Given the description of an element on the screen output the (x, y) to click on. 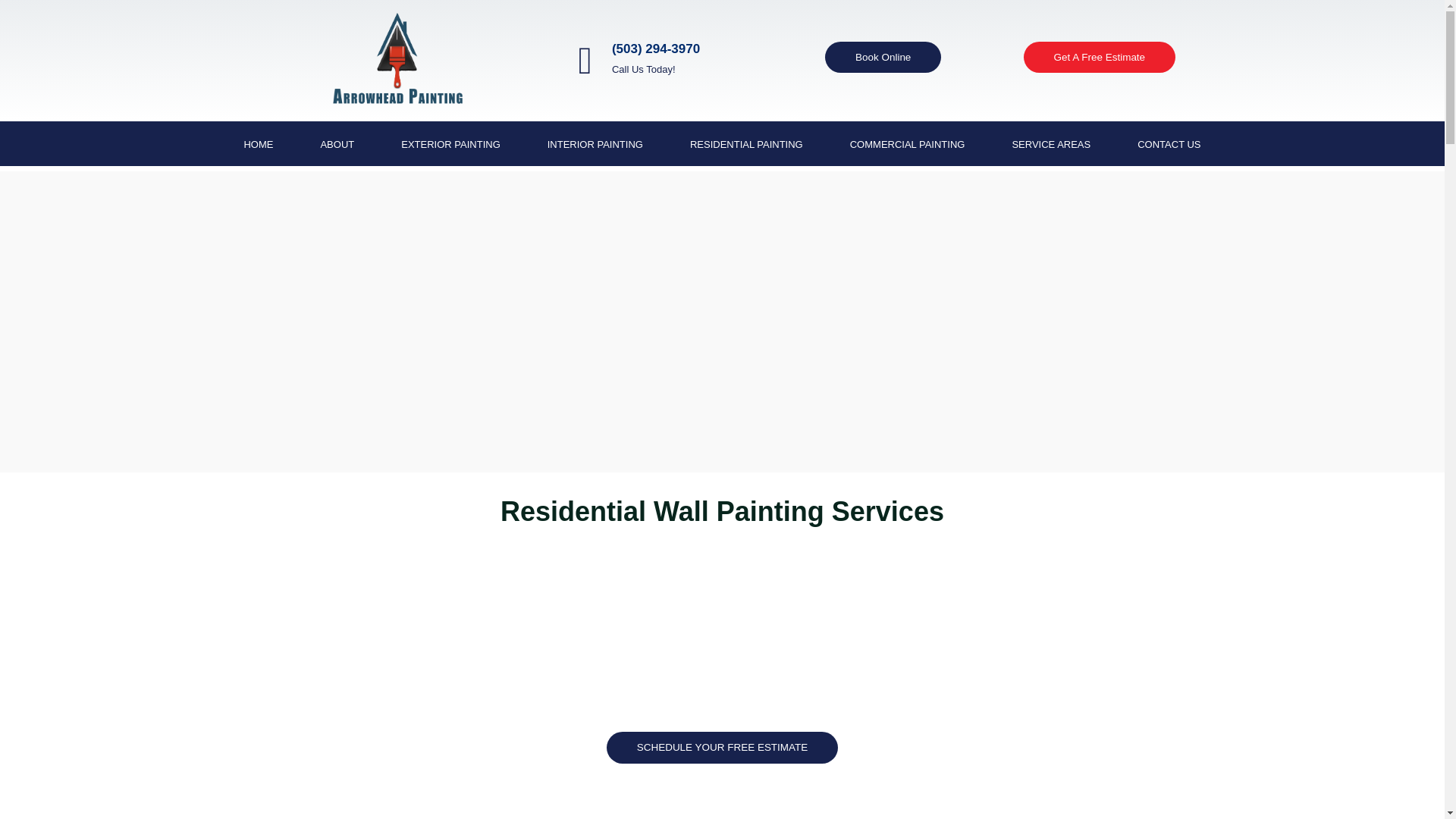
HOME (258, 144)
INTERIOR PAINTING (595, 144)
EXTERIOR PAINTING (450, 144)
ABOUT (337, 144)
COMMERCIAL PAINTING (907, 144)
CONTACT US (1168, 144)
SERVICE AREAS (1050, 144)
RESIDENTIAL PAINTING (746, 144)
Get A Free Estimate (1099, 56)
Book Online (882, 56)
